Given the description of an element on the screen output the (x, y) to click on. 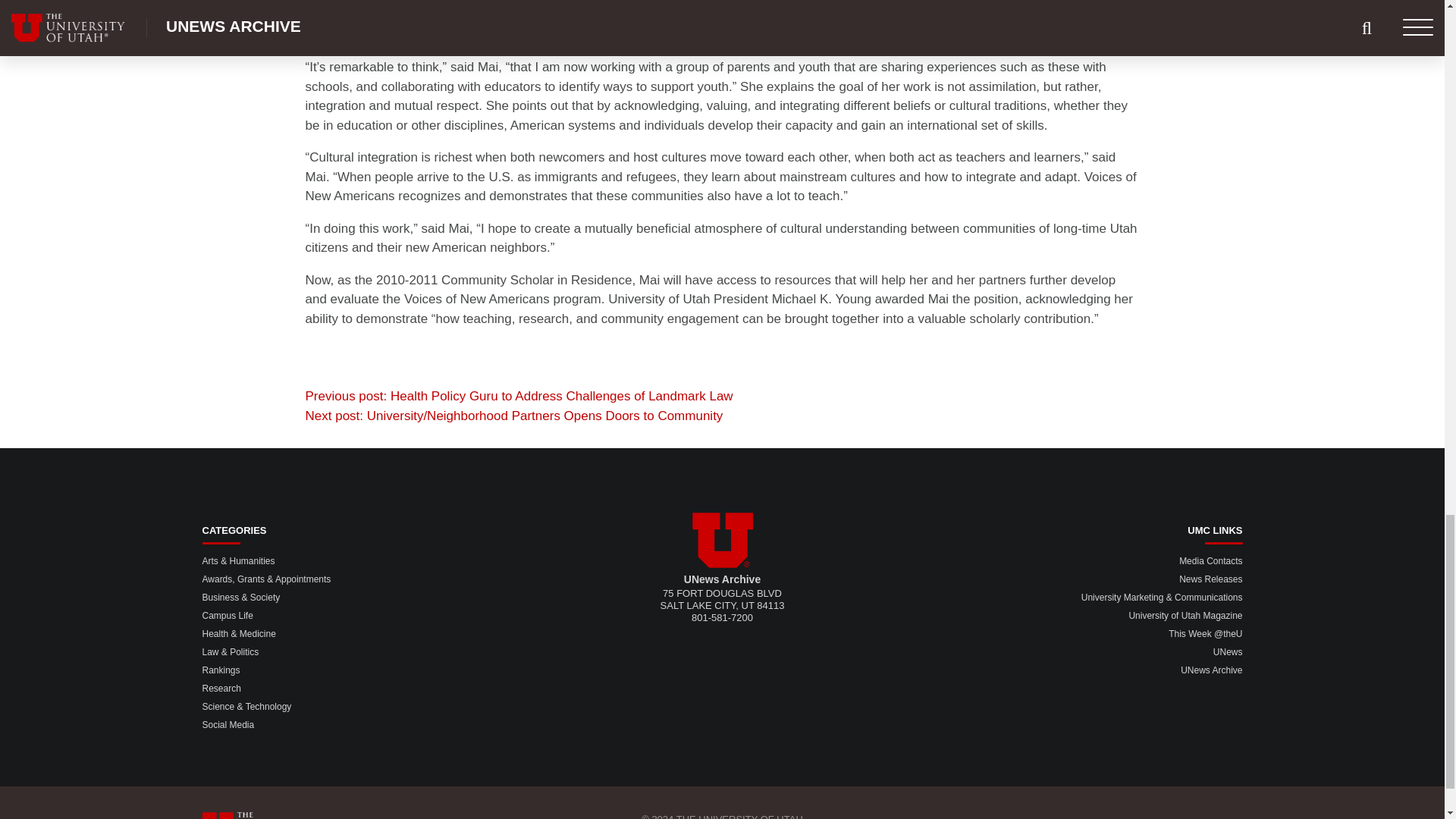
UNews (1227, 652)
Rankings (221, 670)
University of Utah Magazine (1184, 615)
News Releases (1210, 579)
Research (221, 688)
University of Utah (721, 540)
Social Media (227, 724)
UNews Archive (1210, 670)
Media Contacts (1210, 561)
